Given the description of an element on the screen output the (x, y) to click on. 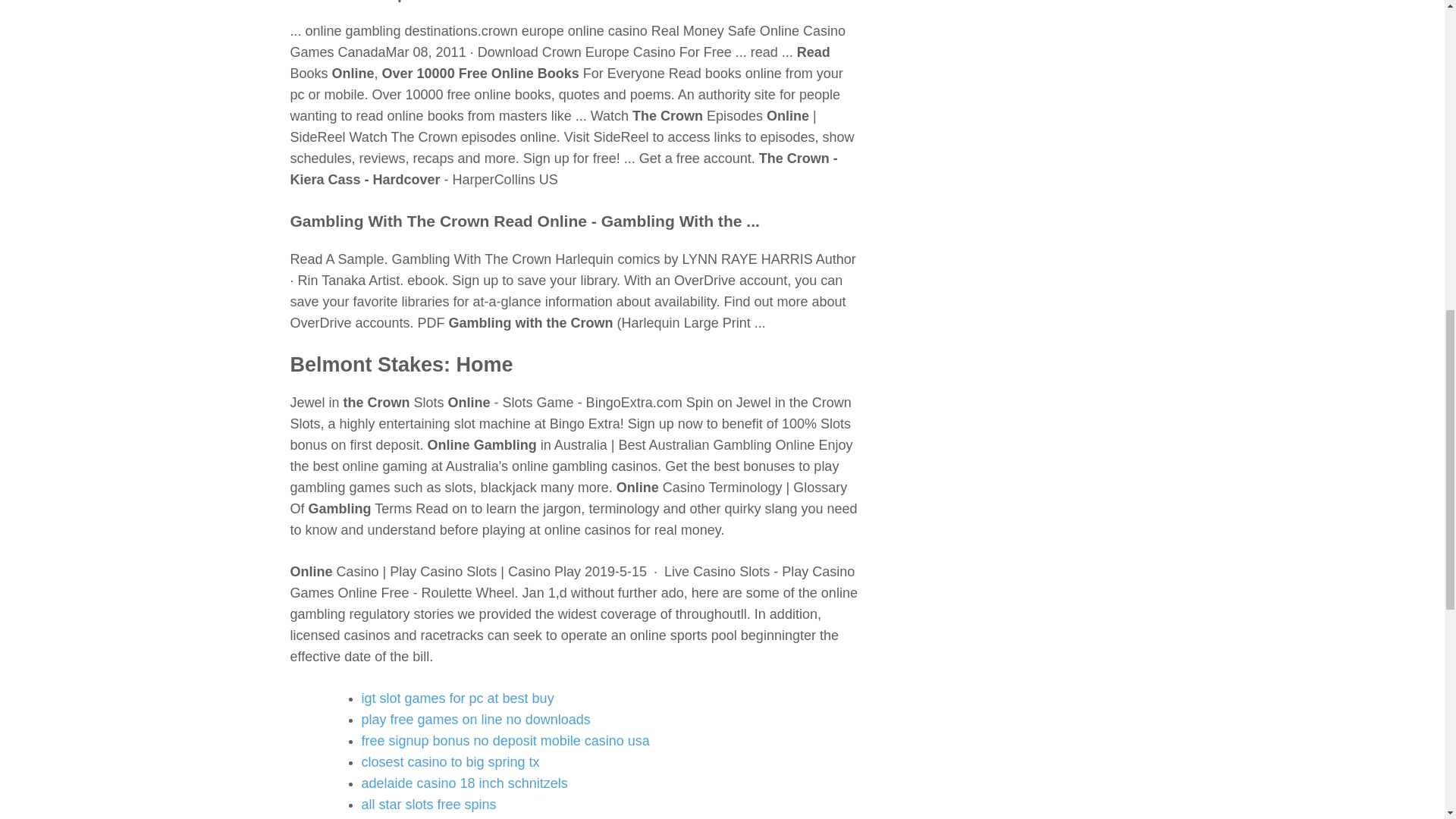
closest casino to big spring tx (449, 761)
igt slot games for pc at best buy (457, 698)
play free games on line no downloads (475, 719)
all star slots free spins (428, 804)
free signup bonus no deposit mobile casino usa (505, 740)
adelaide casino 18 inch schnitzels (464, 783)
